Given the description of an element on the screen output the (x, y) to click on. 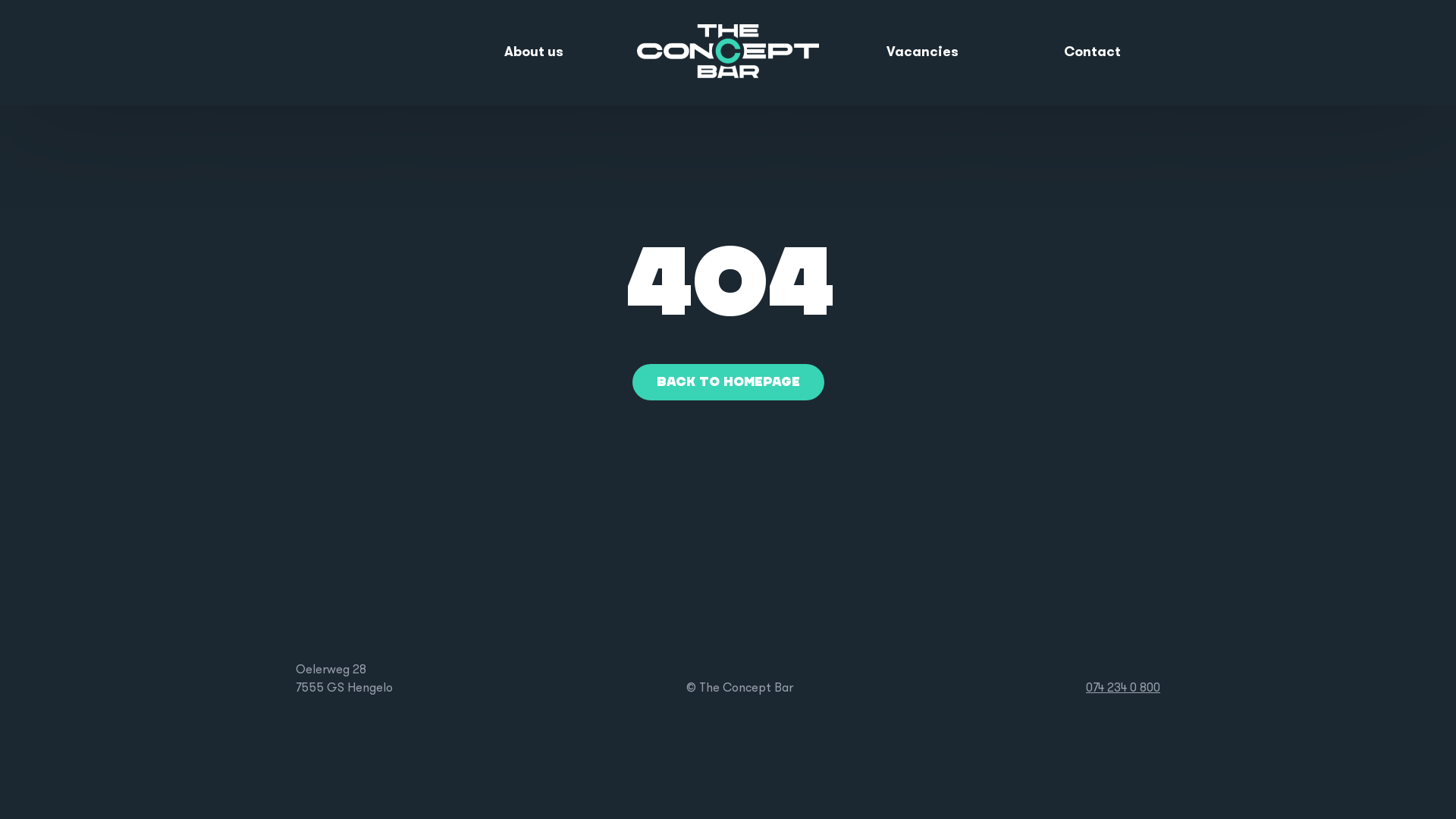
About us Element type: text (533, 52)
074 234 0 800 Element type: text (1122, 688)
Contact Element type: text (1091, 52)
Vacancies Element type: text (921, 52)
Back to homepage Element type: text (728, 382)
